Given the description of an element on the screen output the (x, y) to click on. 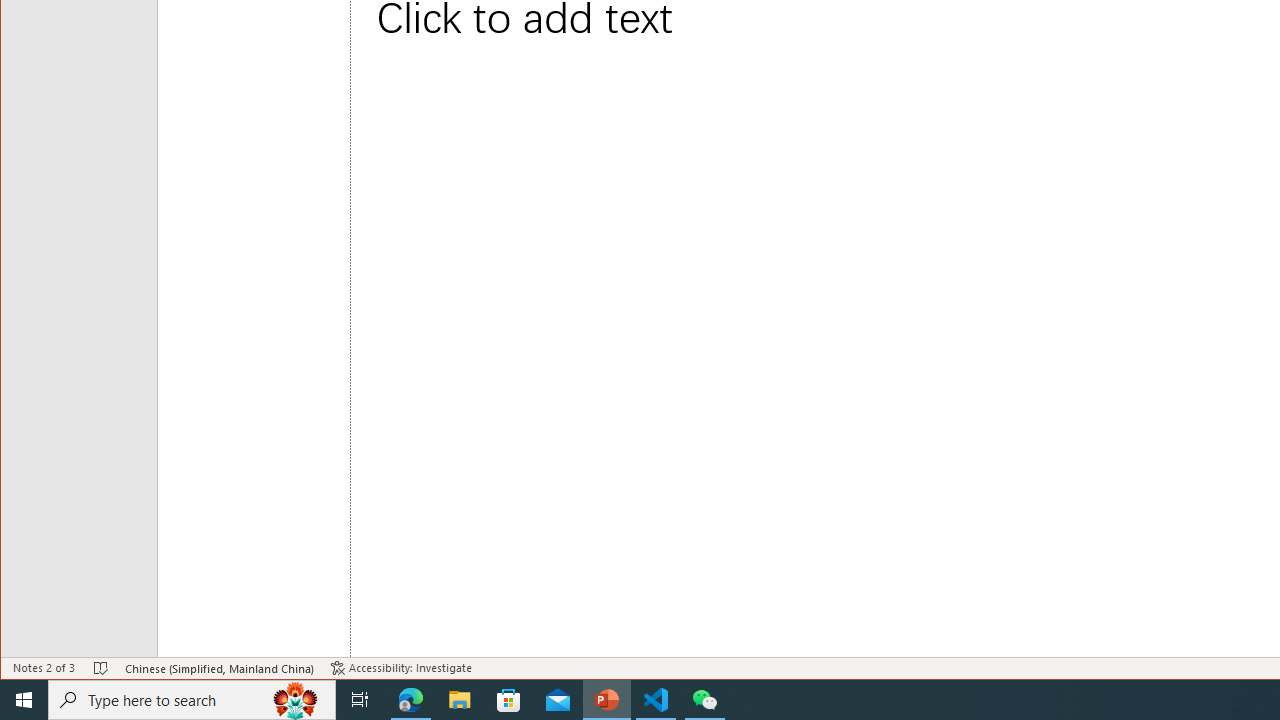
WeChat - 1 running window (704, 699)
